Given the description of an element on the screen output the (x, y) to click on. 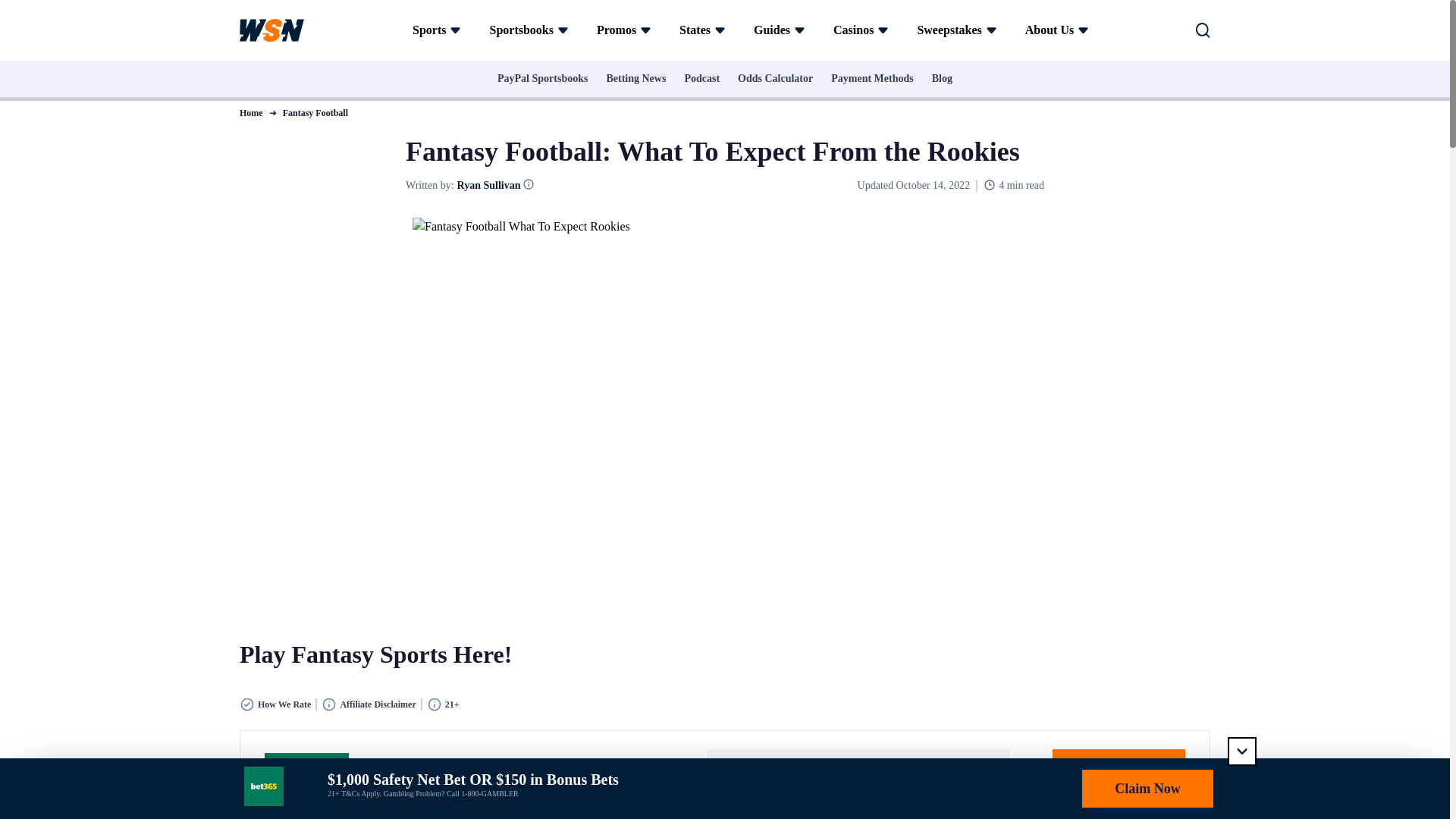
World Sports Network (272, 29)
